Given the description of an element on the screen output the (x, y) to click on. 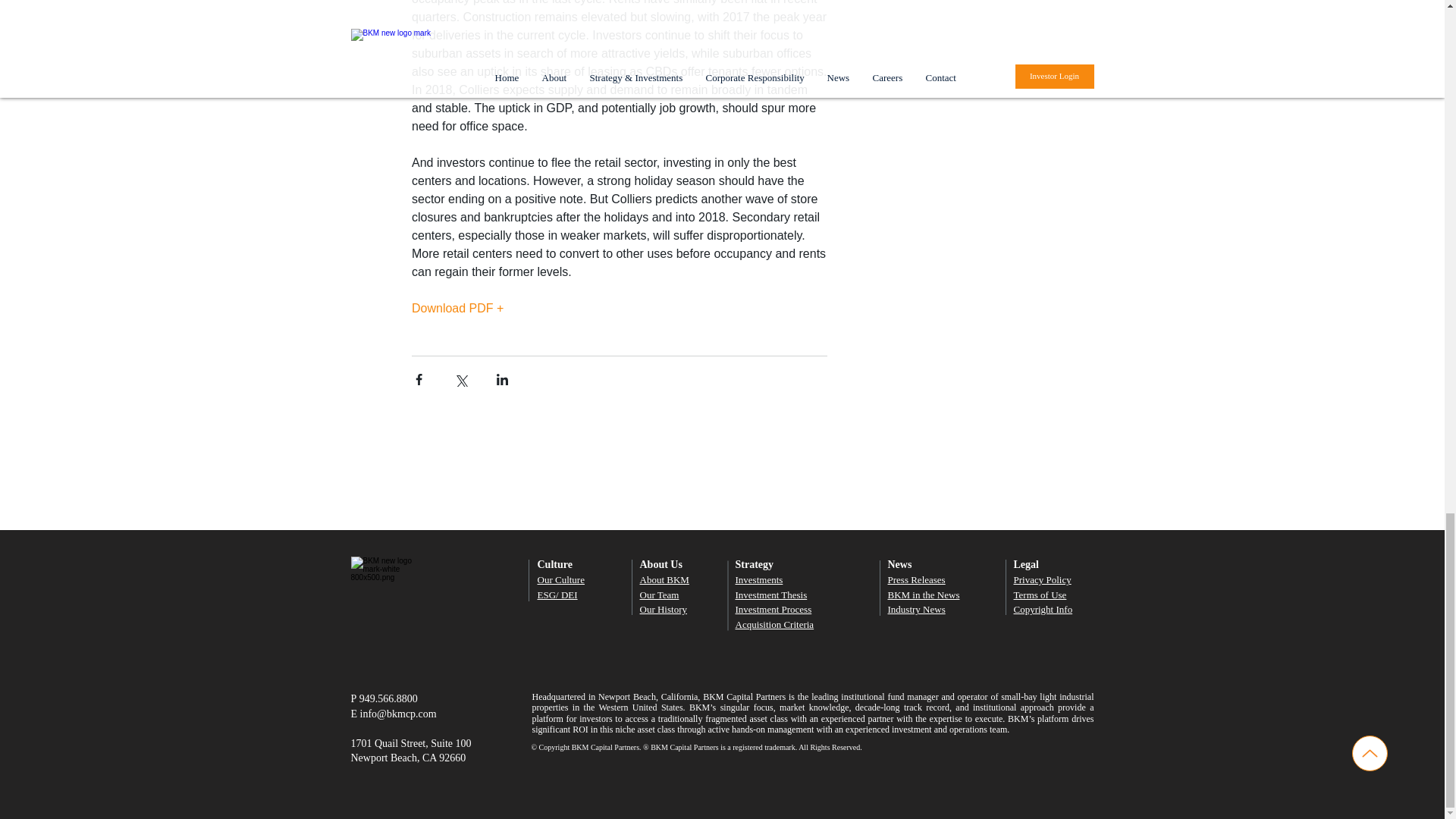
Our Culture (560, 579)
Investment Process (773, 609)
Investments (759, 579)
Acquisition Criteria (774, 624)
About BKM (664, 579)
Our Team (659, 594)
Investment Thesis (771, 594)
Our History (663, 609)
Press Releases (915, 579)
BKM in the News (922, 594)
